Given the description of an element on the screen output the (x, y) to click on. 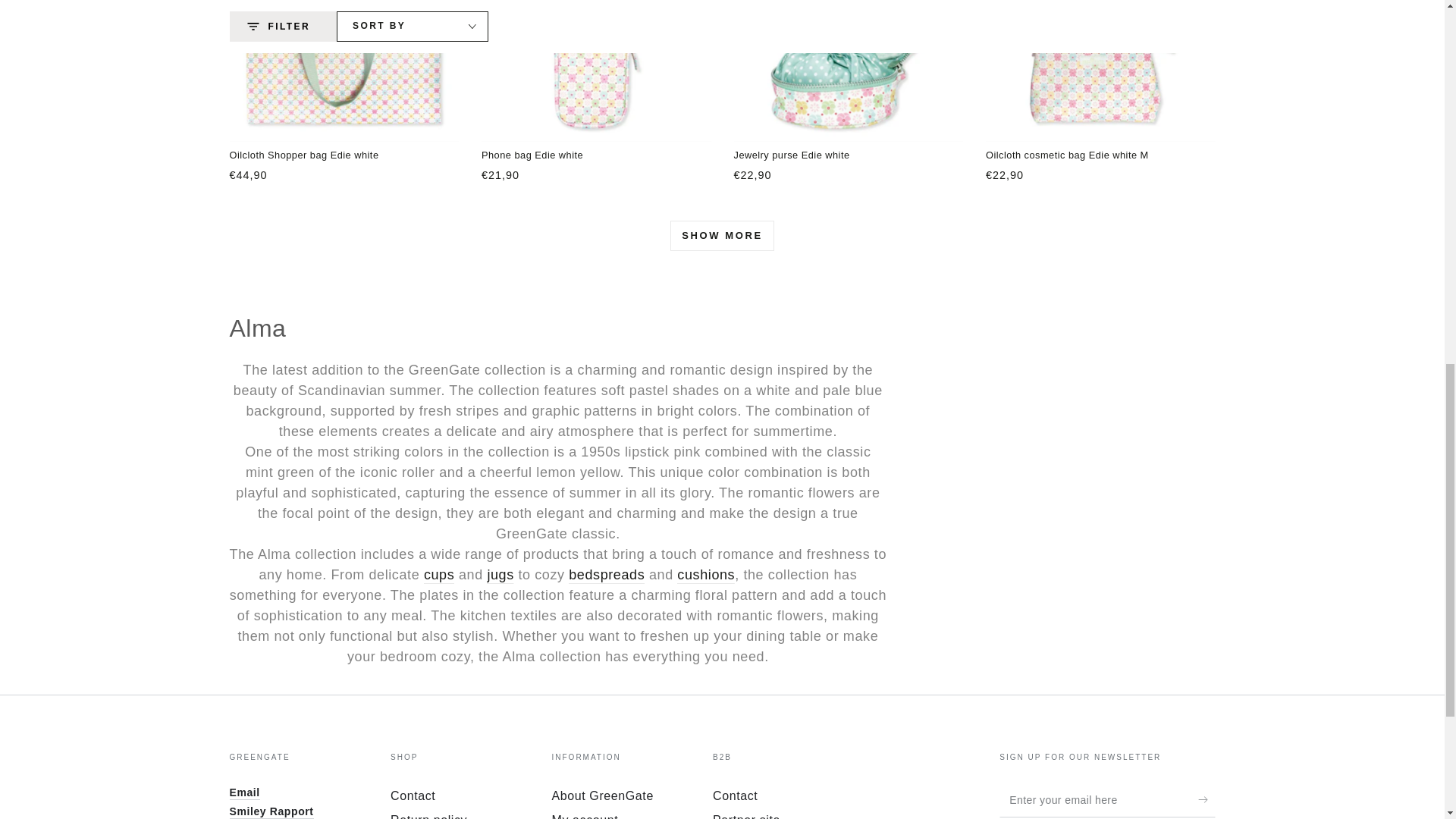
SHOW MORE (721, 235)
